Given the description of an element on the screen output the (x, y) to click on. 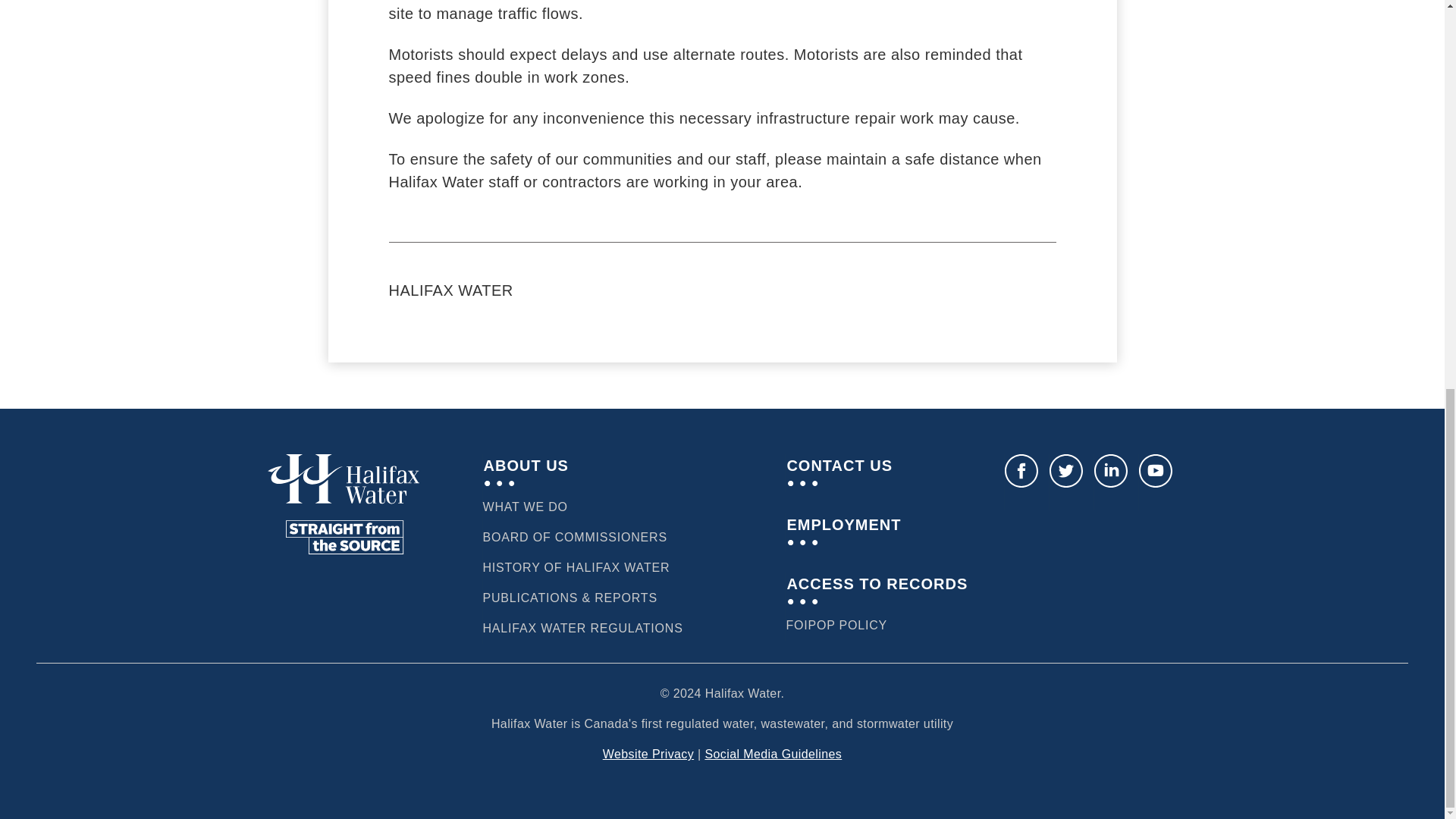
Halifax Water's Privacy Policy (874, 625)
